Given the description of an element on the screen output the (x, y) to click on. 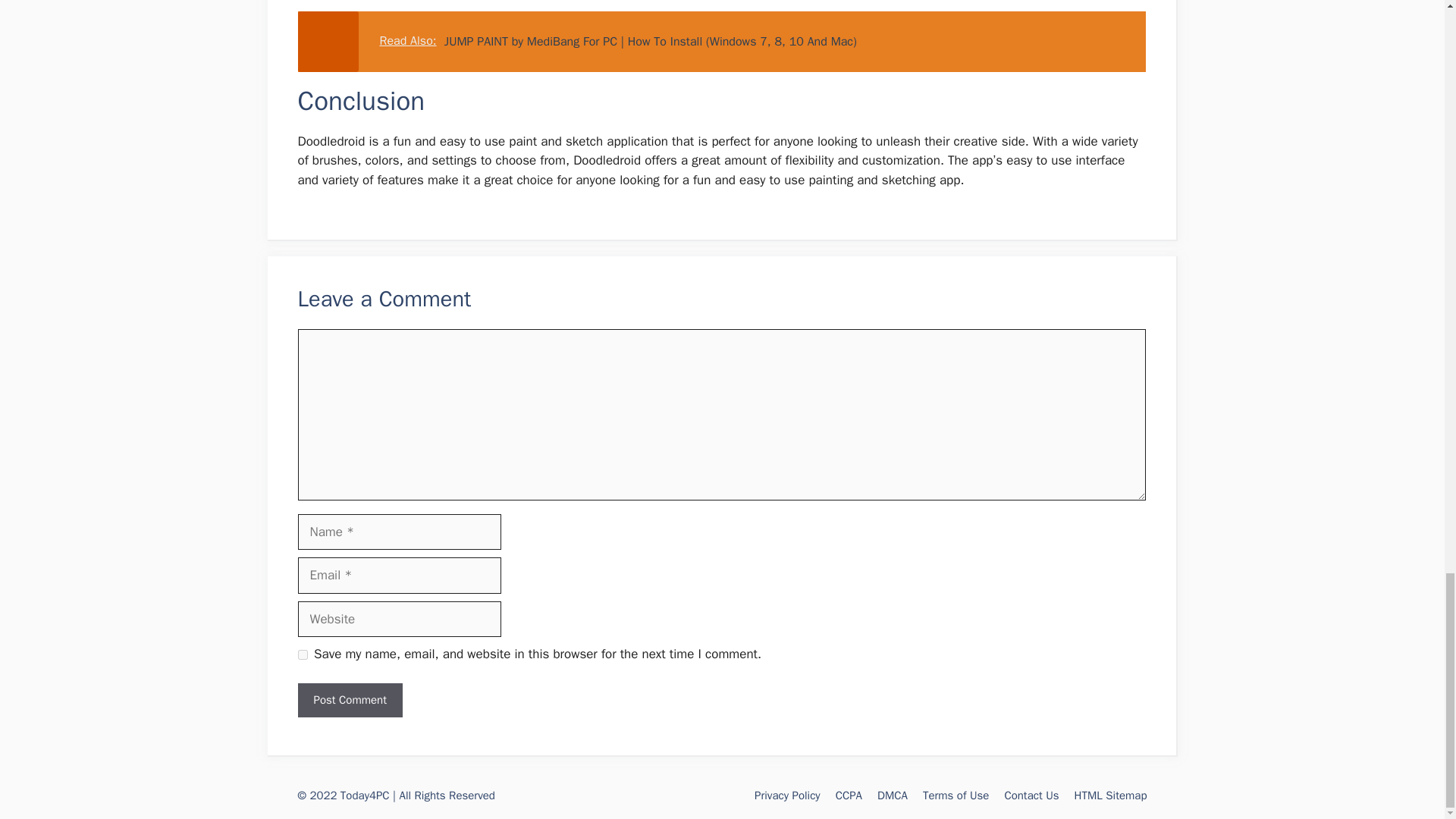
Contact Us (1031, 795)
Terms of Use (956, 795)
Privacy Policy (787, 795)
HTML Sitemap (1110, 795)
DMCA (892, 795)
Post Comment (349, 700)
yes (302, 655)
Post Comment (349, 700)
CCPA (848, 795)
